Given the description of an element on the screen output the (x, y) to click on. 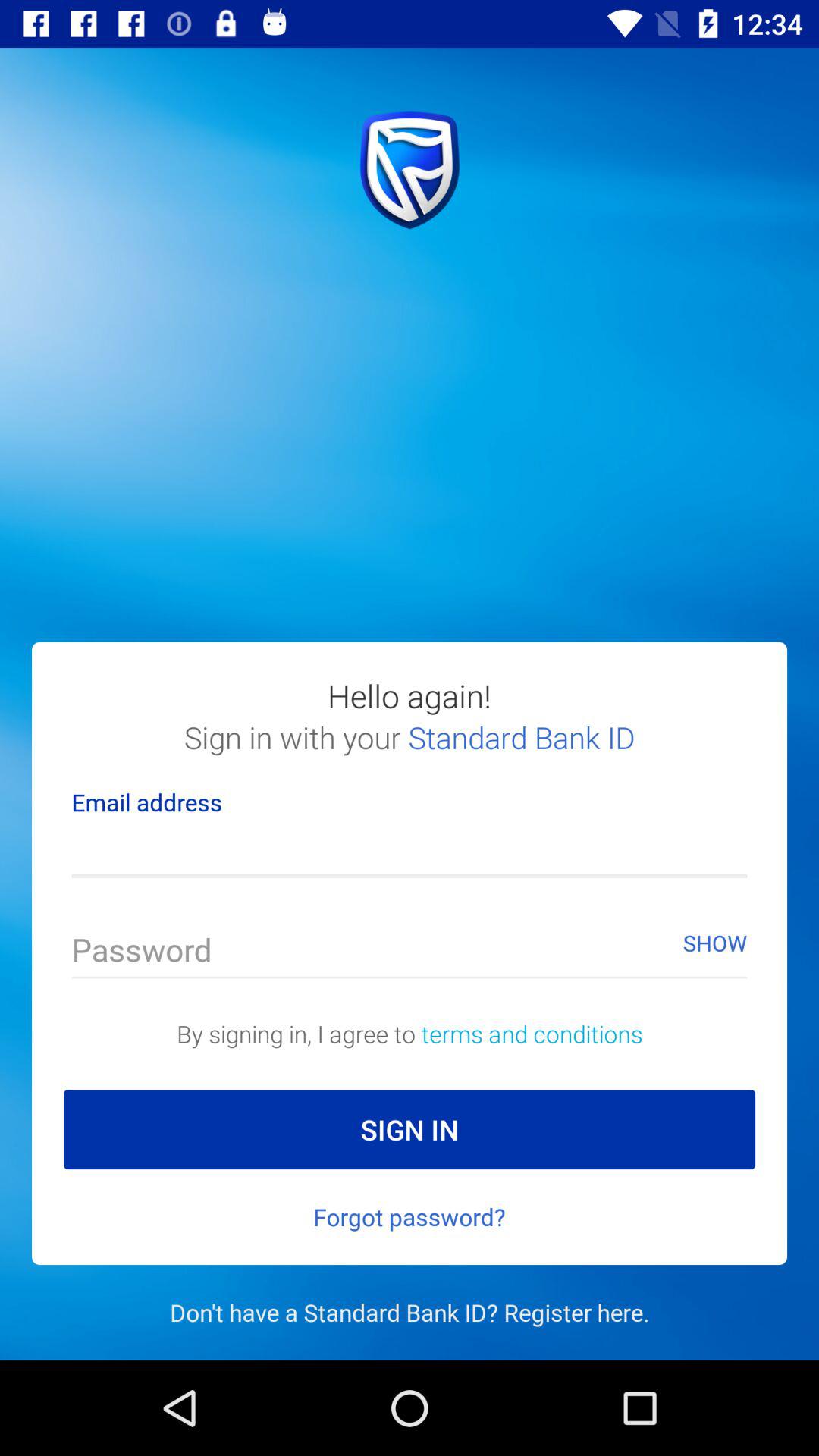
insert password (409, 953)
